Given the description of an element on the screen output the (x, y) to click on. 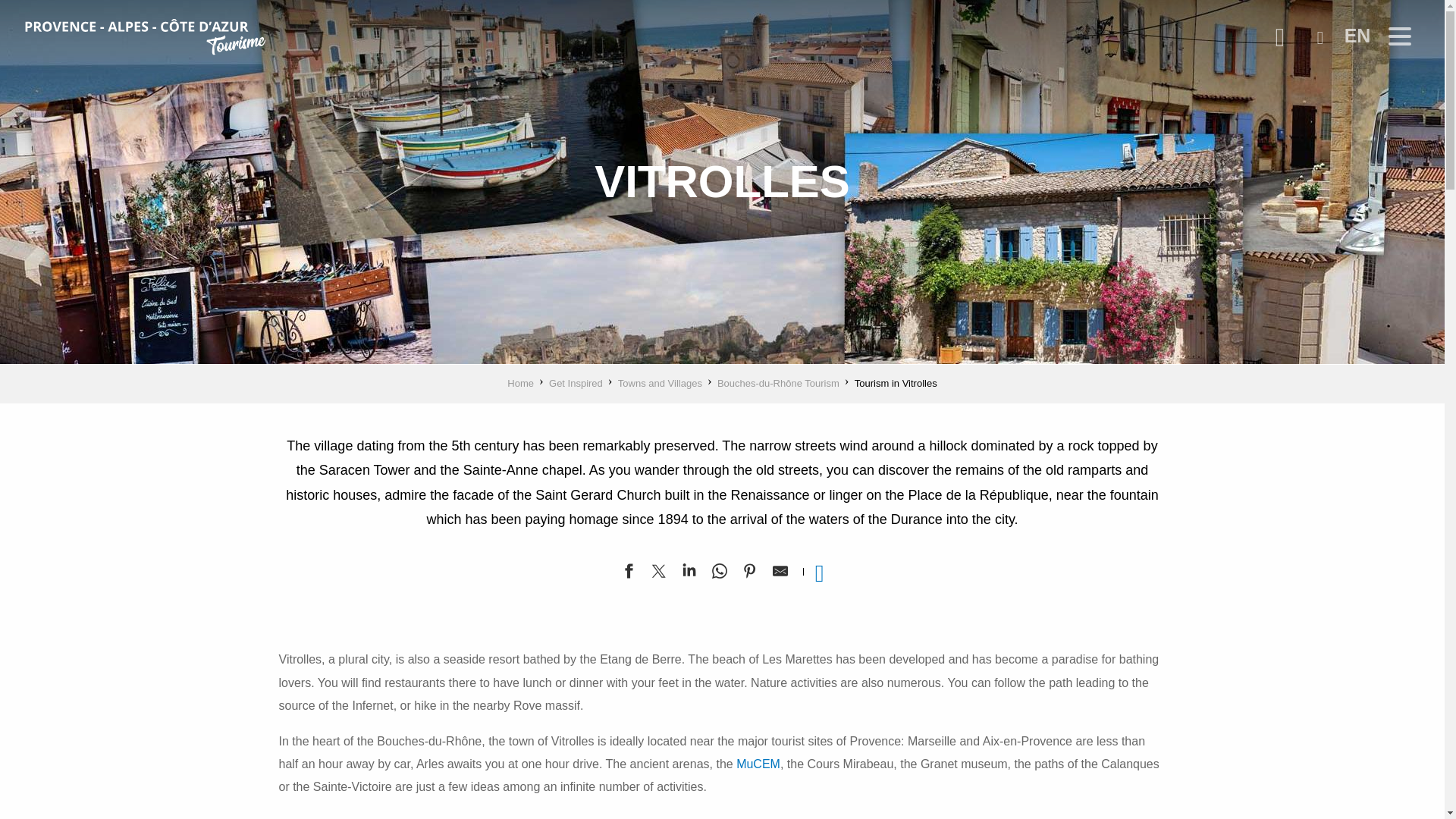
Home (520, 383)
Towns and Villages (659, 383)
MuCEM (758, 763)
Get Inspired (575, 383)
